Given the description of an element on the screen output the (x, y) to click on. 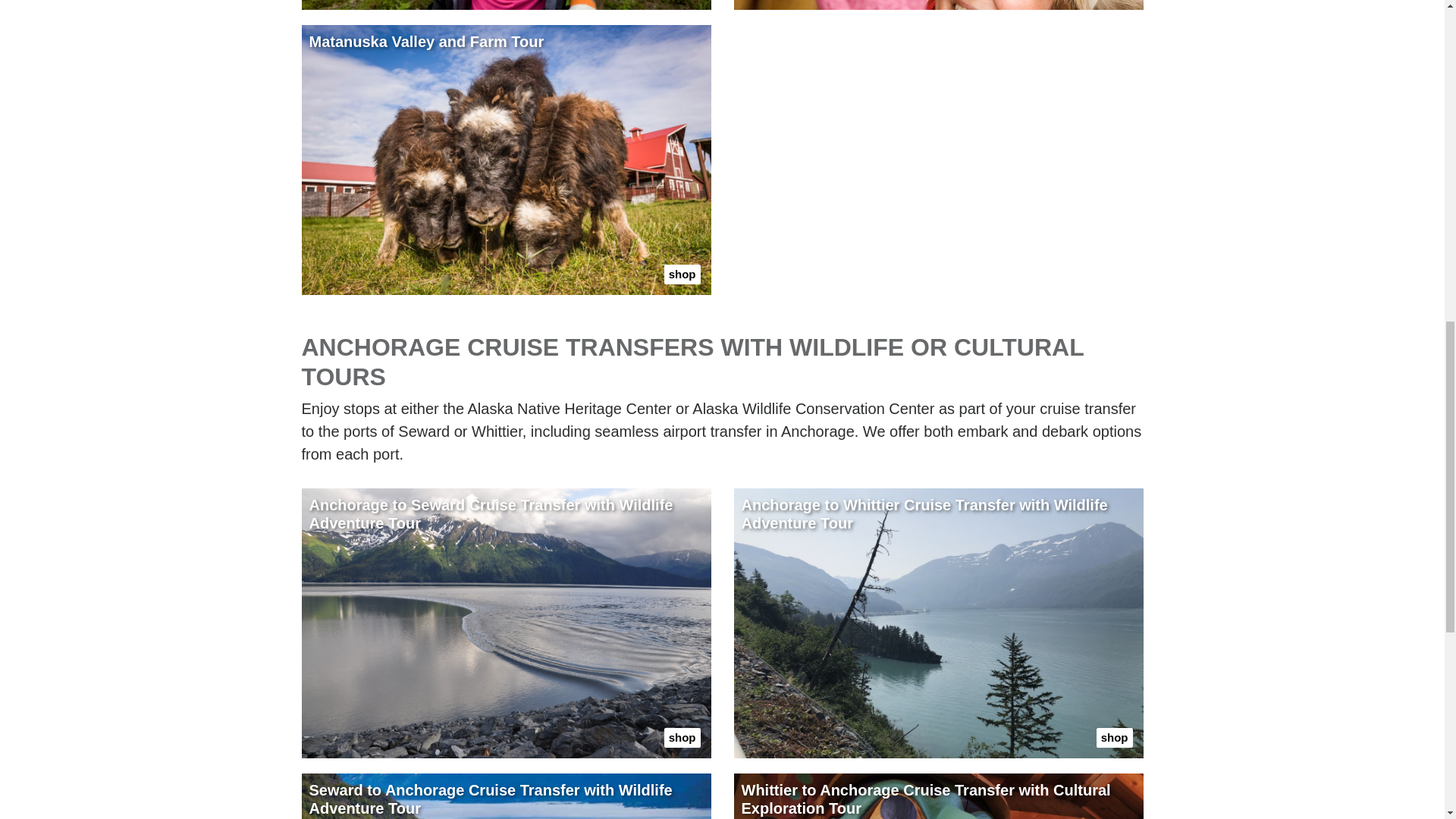
Whittier to Anchorage Cultural Exploration (937, 796)
Matanuska Valley and Farm Tour (506, 159)
Anchorage Zoo Tour (506, 4)
Seward to Anchorage Wildlife Adventure (506, 796)
Anchorage to Whittier Wildlife Adventure (937, 623)
Anchorage to Seward Wildlife Adventure (506, 623)
Matanuska Valley and Farm Tour (506, 159)
